Given the description of an element on the screen output the (x, y) to click on. 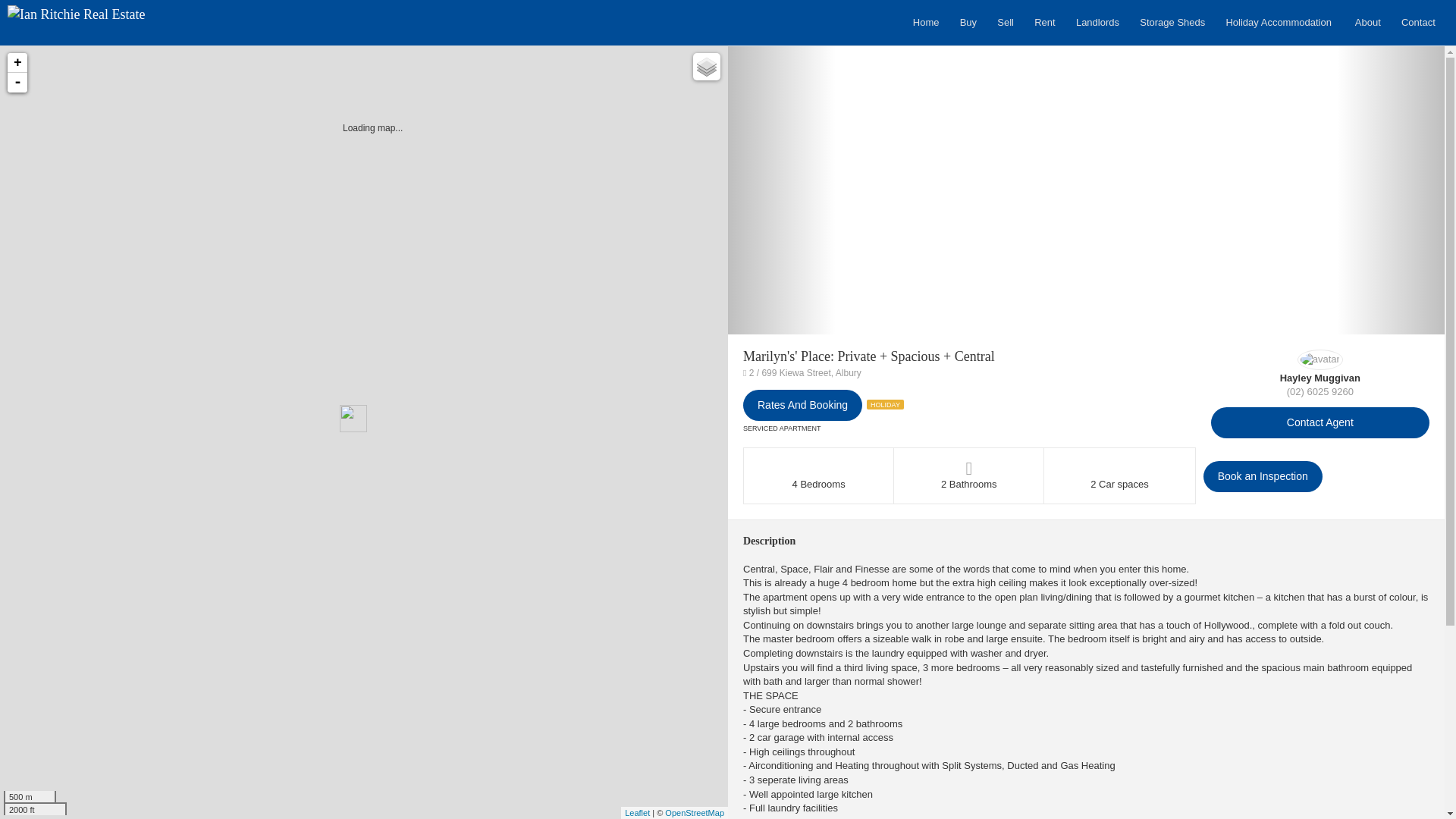
Holiday Accommodation    Element type: text (1282, 23)
+ Element type: text (17, 62)
Contact   Element type: text (1420, 23)
OpenStreetMap Element type: text (694, 812)
Rent   Element type: text (1047, 23)
Layers Element type: hover (706, 66)
Landlords   Element type: text (1100, 23)
Home   Element type: text (928, 23)
Sell   Element type: text (1008, 23)
Storage Sheds   Element type: text (1174, 23)
Buy   Element type: text (971, 23)
- Element type: text (17, 82)
Rates And Booking Element type: text (802, 404)
Contact Agent Element type: text (1320, 422)
(02) 6025 9260 Element type: text (1319, 391)
Leaflet Element type: text (636, 812)
About   Element type: text (1370, 23)
Book an Inspection Element type: text (1262, 476)
